Given the description of an element on the screen output the (x, y) to click on. 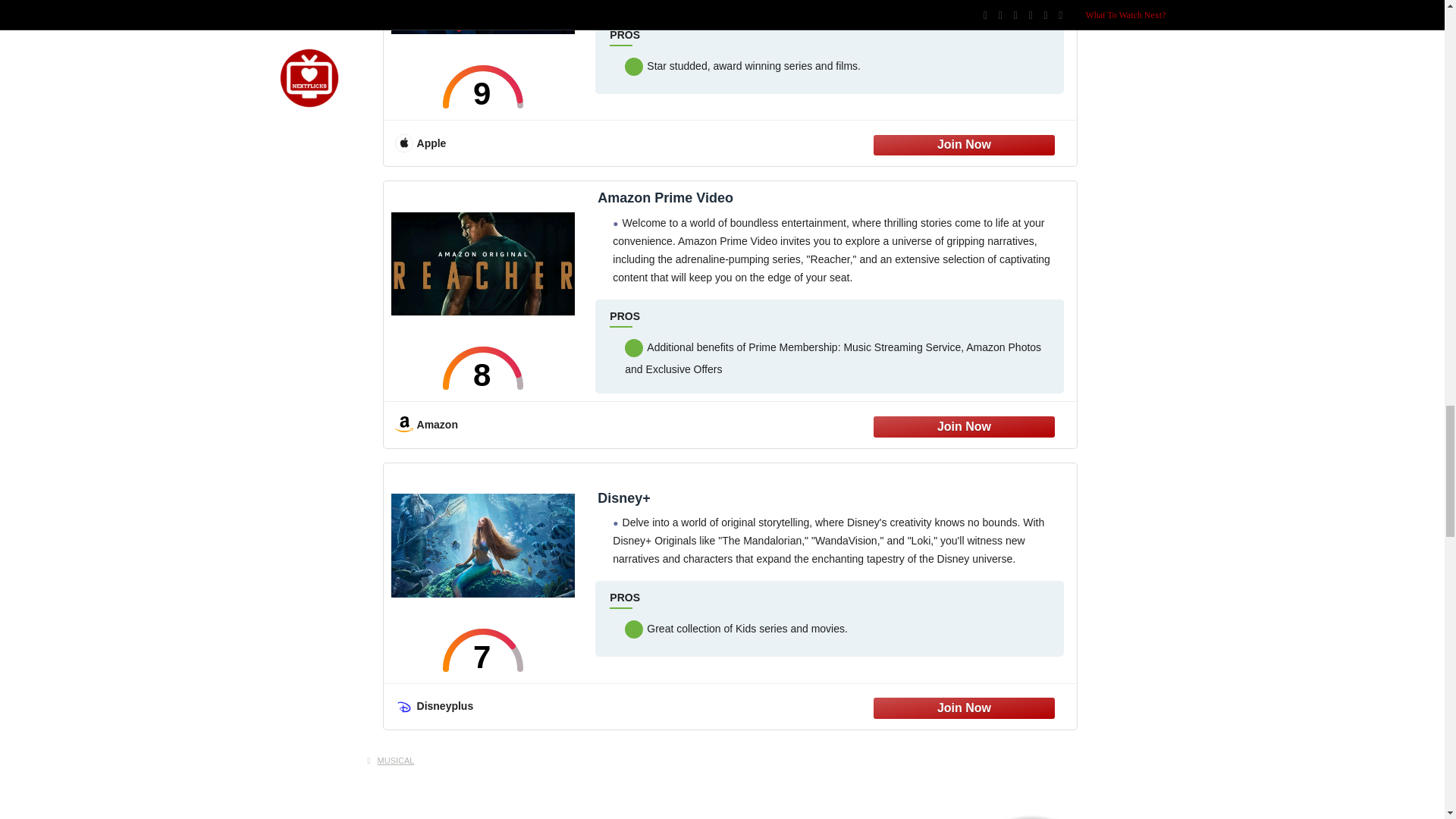
9 (483, 86)
7 (483, 649)
8 (483, 367)
